Given the description of an element on the screen output the (x, y) to click on. 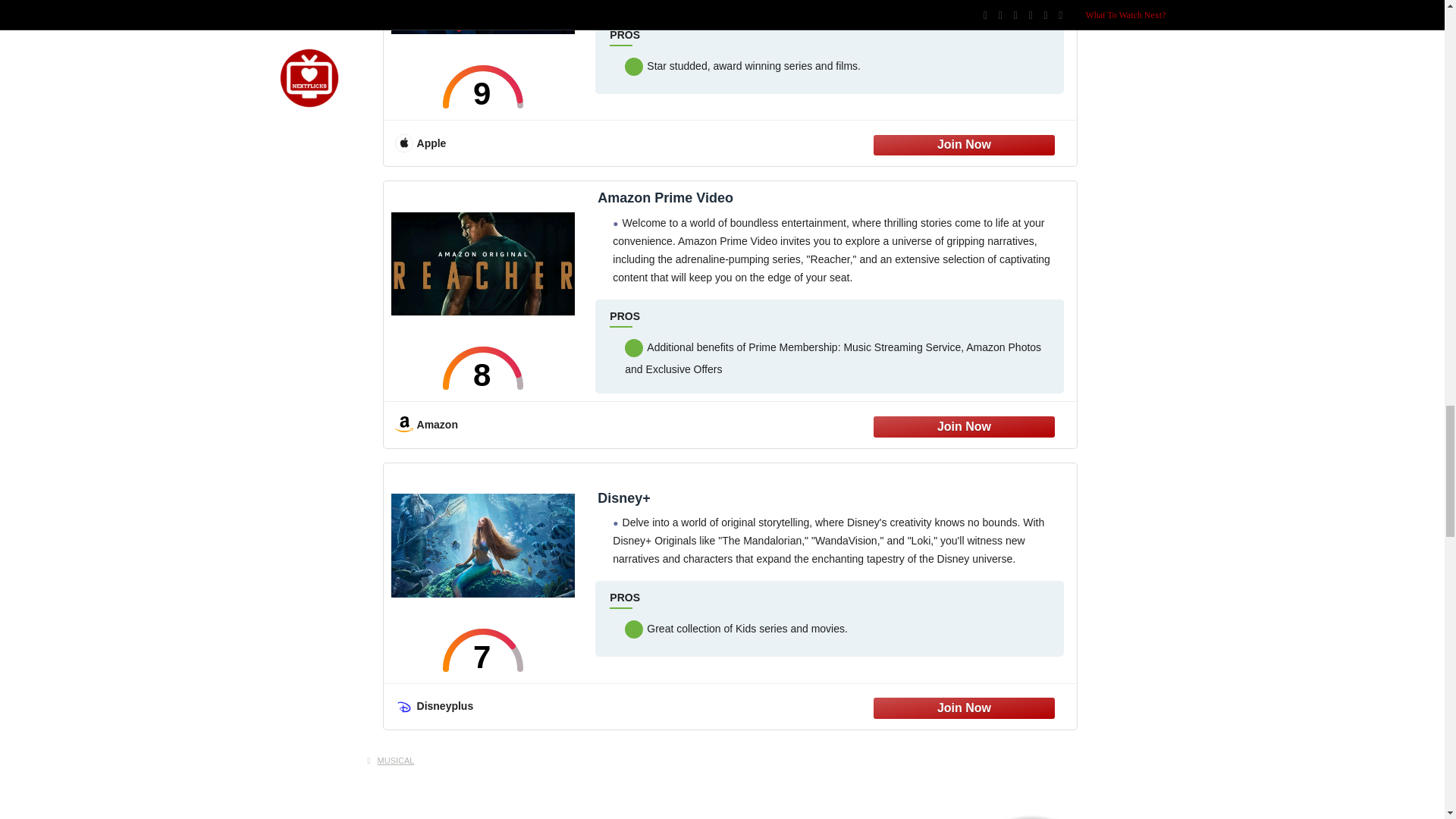
9 (483, 86)
7 (483, 649)
8 (483, 367)
